Given the description of an element on the screen output the (x, y) to click on. 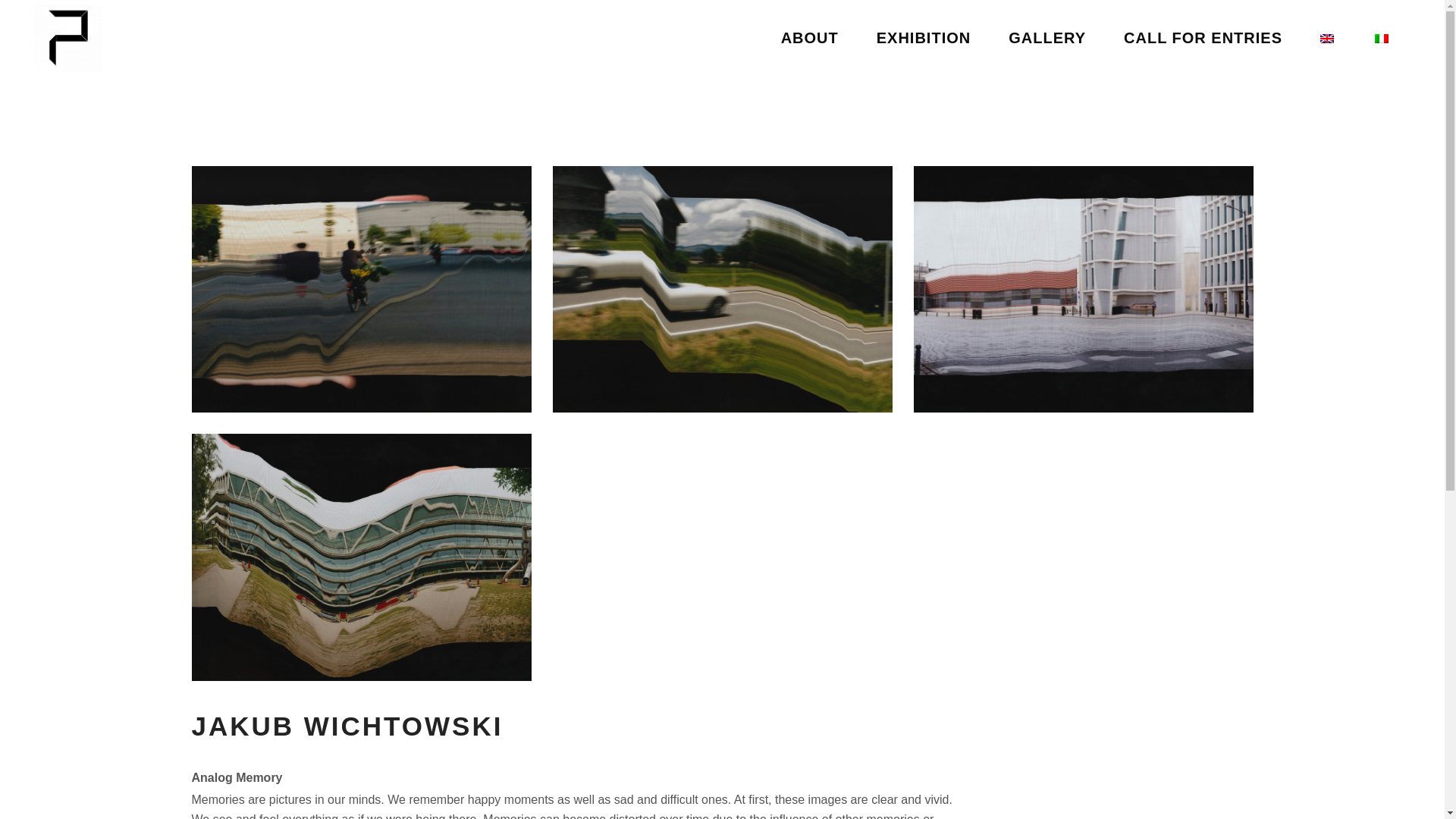
EXHIBITION (923, 38)
GALLERY (1047, 38)
CALL FOR ENTRIES (1203, 38)
ABOUT (809, 38)
